Given the description of an element on the screen output the (x, y) to click on. 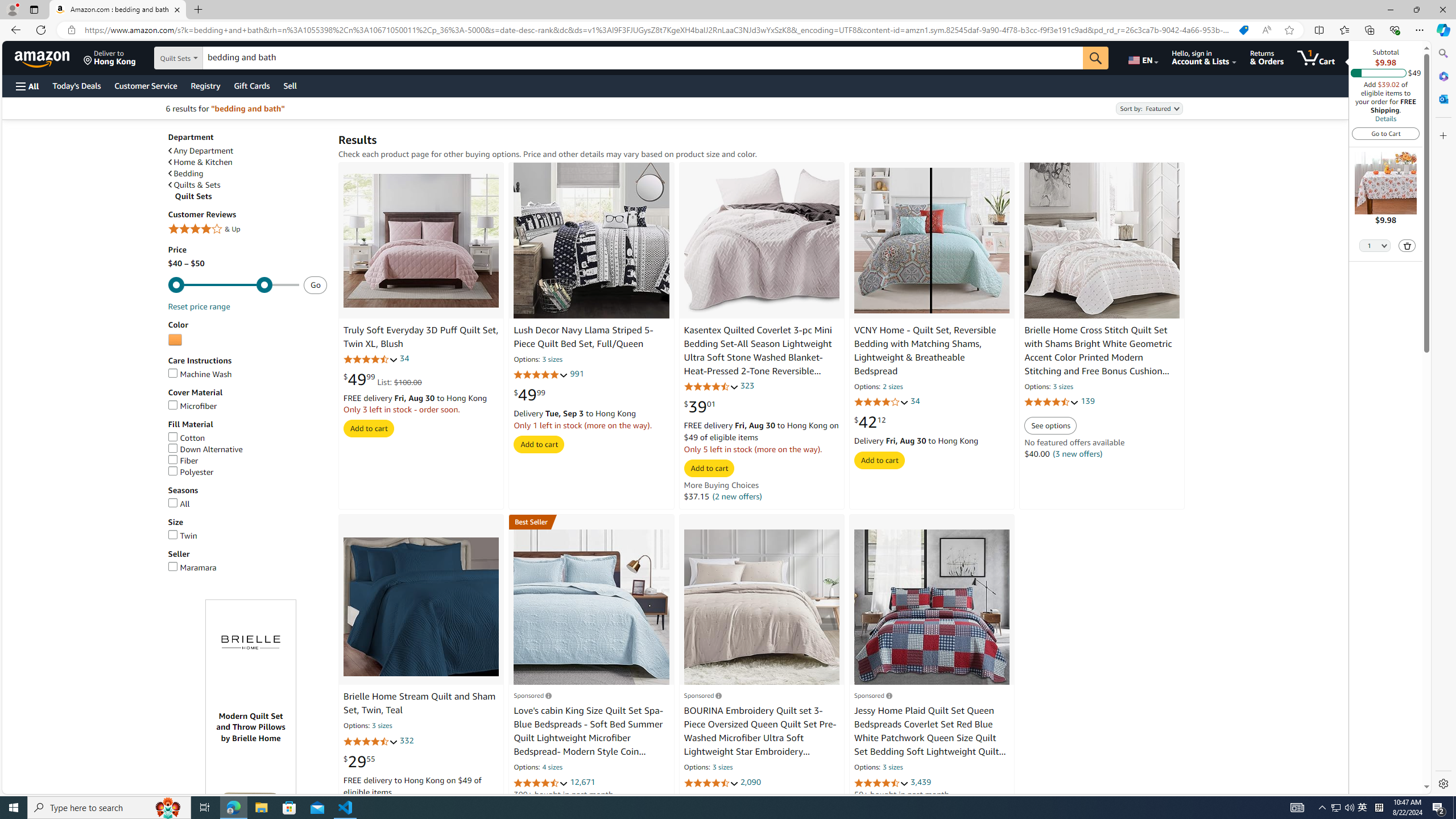
Brielle Home Stream Quilt and Sham Set, Twin, Teal (419, 703)
$49.99 List: $100.00 (382, 379)
Cotton (247, 438)
Down Alternative (247, 449)
Open Menu (26, 86)
1 item in cart (1315, 57)
See options (1050, 425)
Machine Wash (199, 374)
2,090 (750, 781)
